Given the description of an element on the screen output the (x, y) to click on. 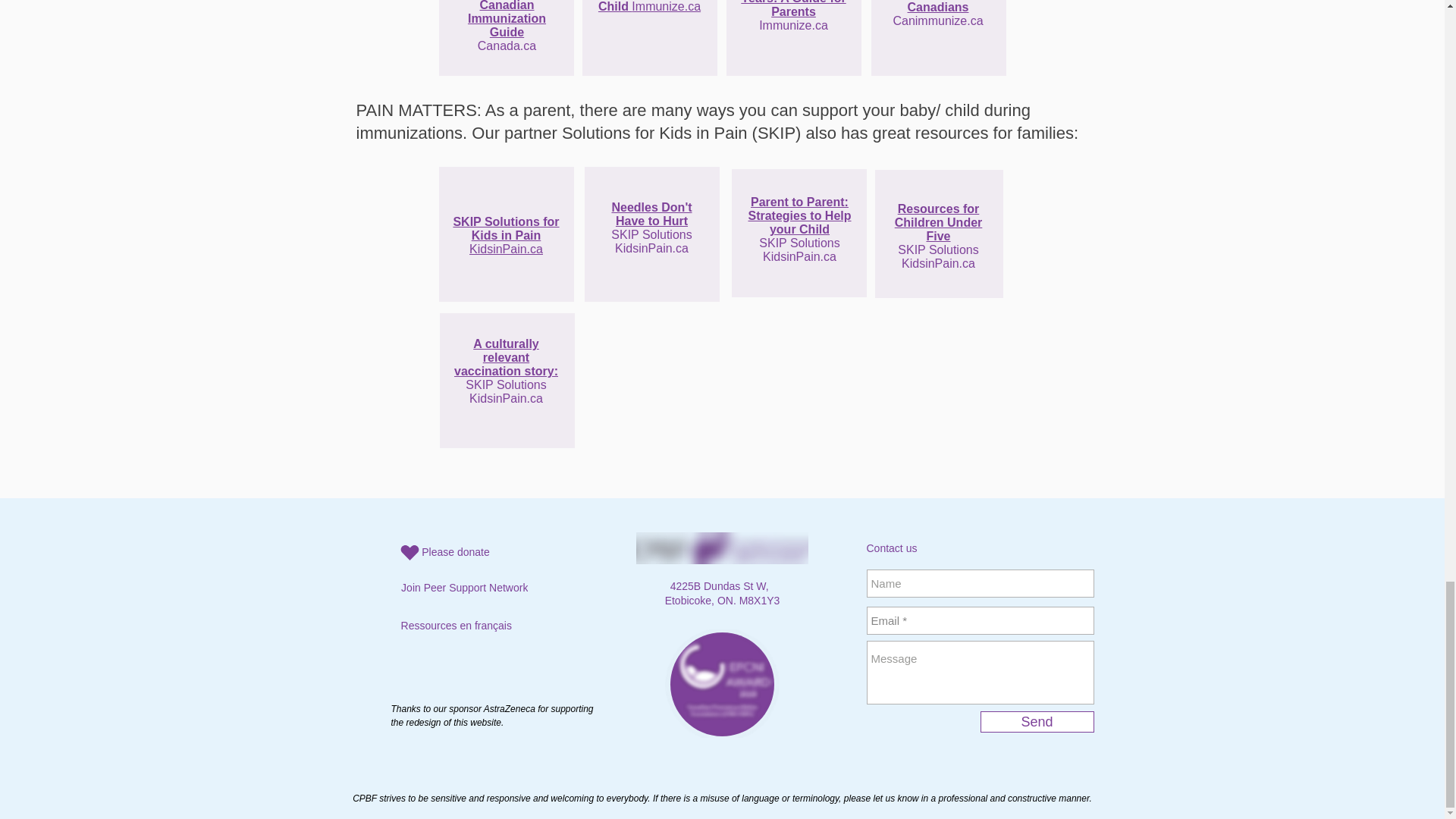
SKIP Solutions for Kids in Pain KidsinPain.ca (505, 235)
A Digital Vaccination Record for Canadians Canimmunize.ca (937, 13)
Immunize Every Child Immunize.ca (649, 6)
Canada.ca (506, 45)
